Given the description of an element on the screen output the (x, y) to click on. 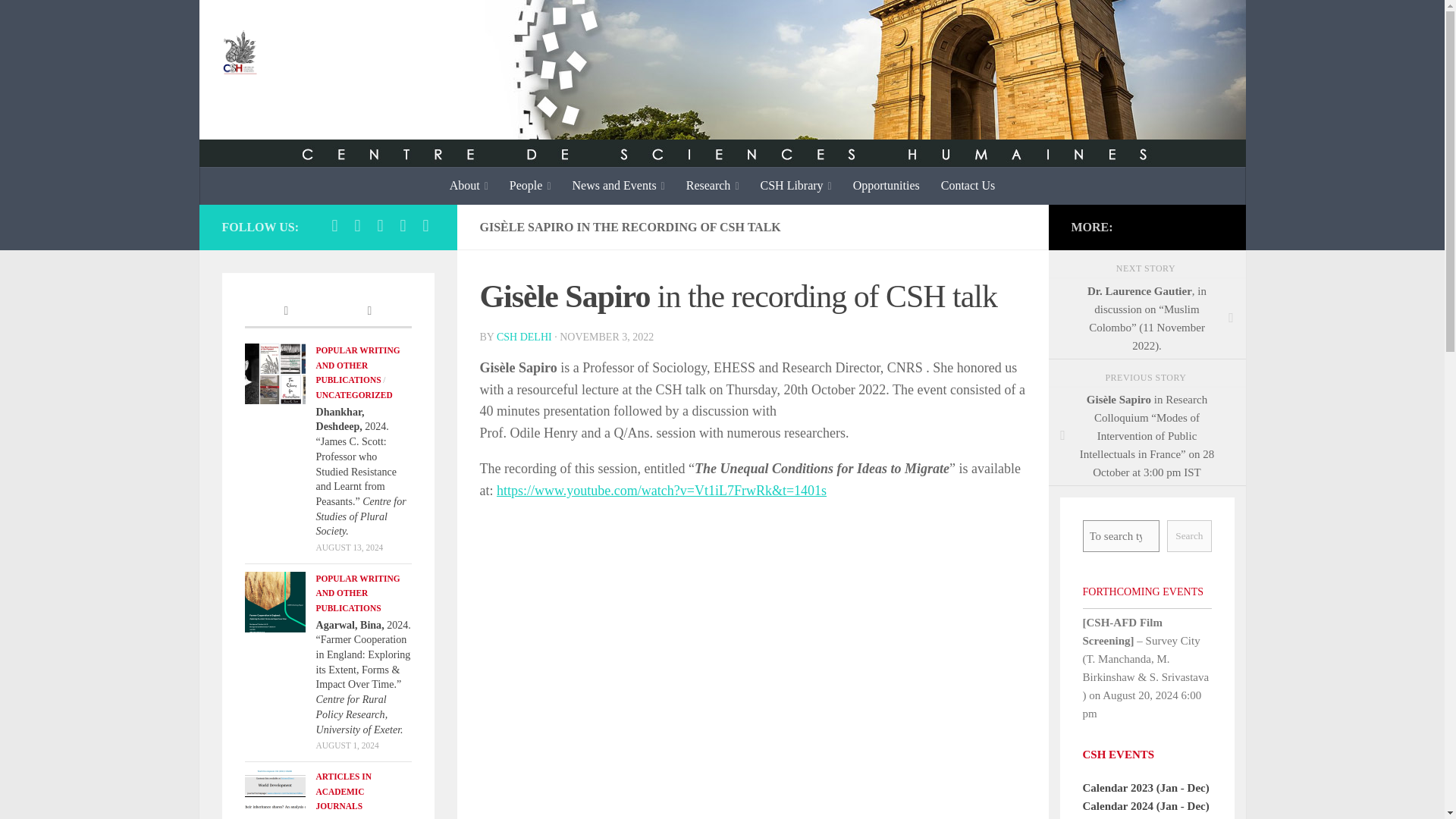
Posts by CSH Delhi (523, 337)
Follow us on Instagram (379, 225)
Skip to content (59, 20)
Follow us on Youtube (402, 225)
Follow us on Facebook (334, 225)
Follow us on Twitter (357, 225)
